Given the description of an element on the screen output the (x, y) to click on. 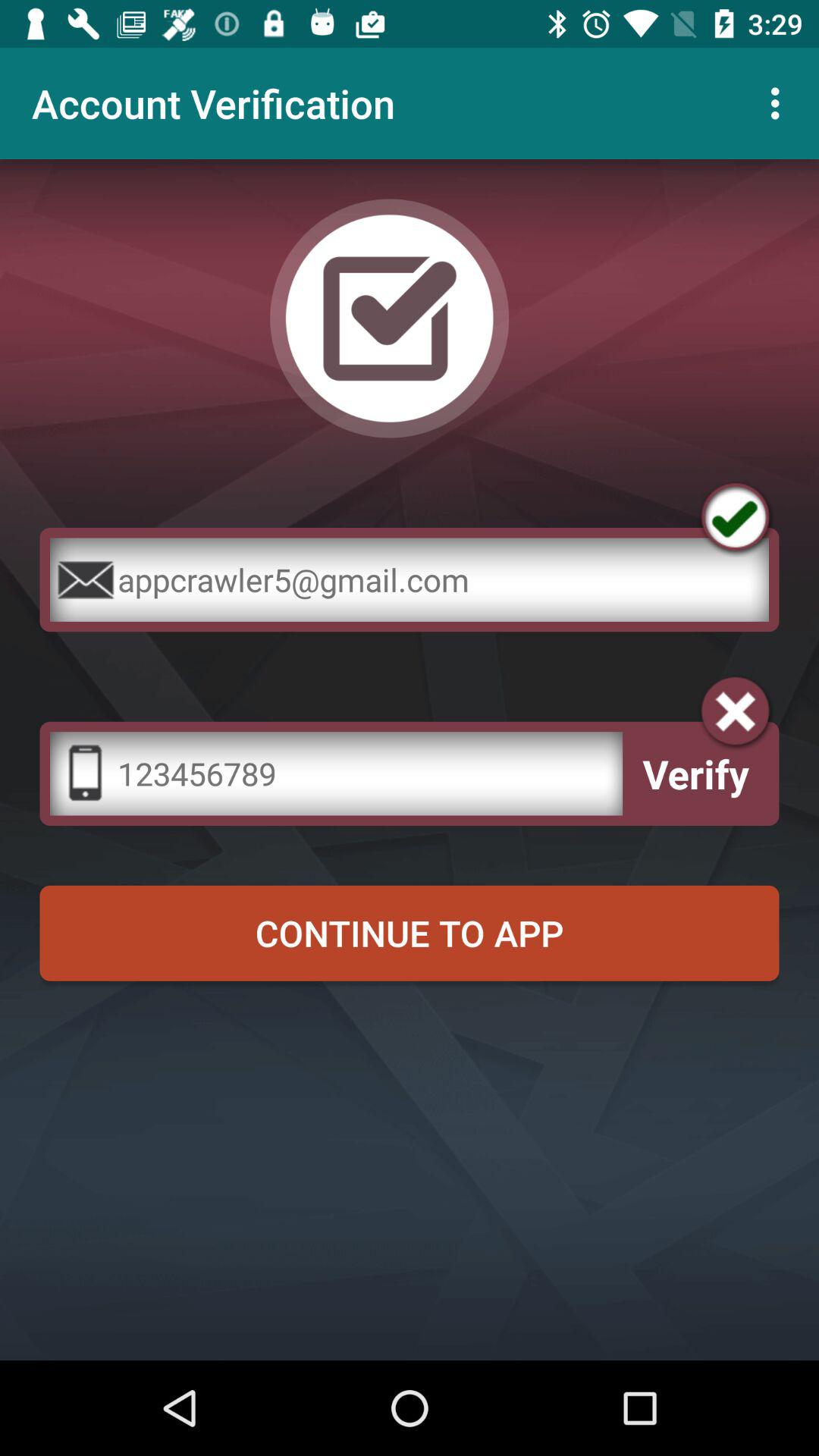
choose the icon below the 123456789 (409, 933)
